Given the description of an element on the screen output the (x, y) to click on. 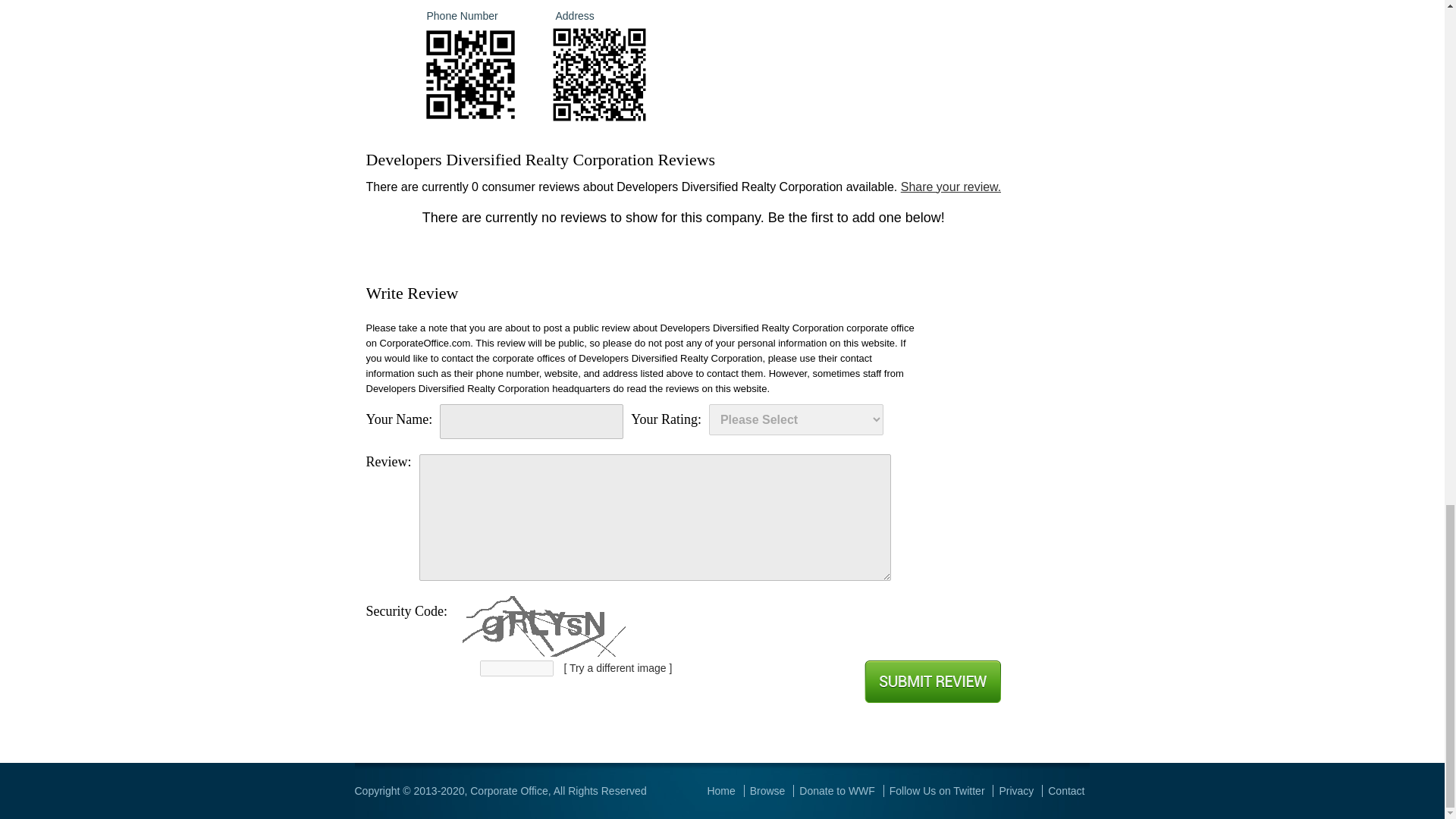
Contact (1066, 790)
Browse (767, 790)
Follow Us on Twitter (937, 790)
Share your review. (951, 186)
Corporate Office (508, 790)
Donate to WWF (837, 790)
Privacy (1015, 790)
Home (720, 790)
